Given the description of an element on the screen output the (x, y) to click on. 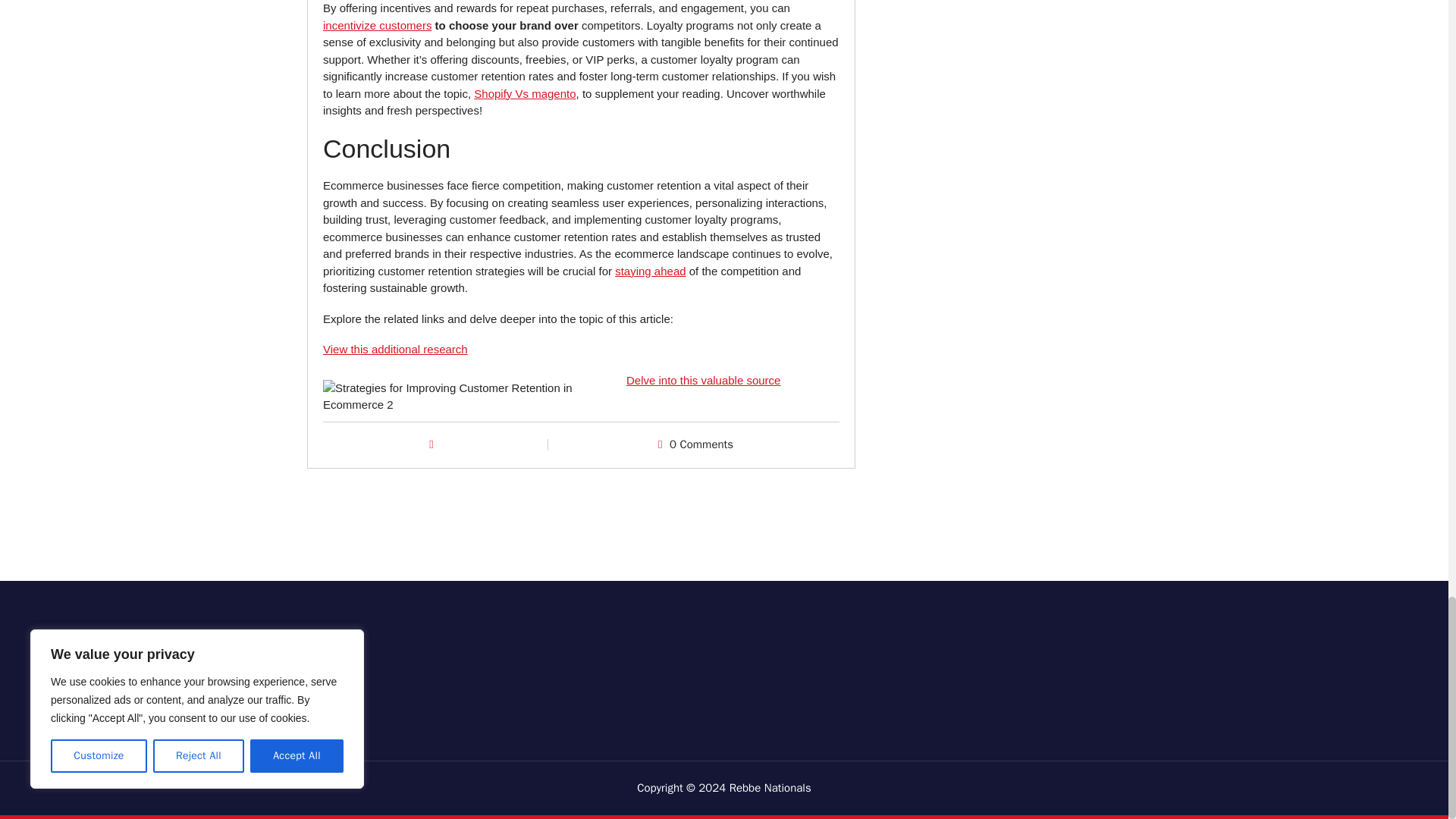
Delve into this valuable source (703, 379)
View this additional research (395, 349)
staying ahead (649, 270)
Shopify Vs magento (524, 92)
incentivize customers (376, 24)
